Given the description of an element on the screen output the (x, y) to click on. 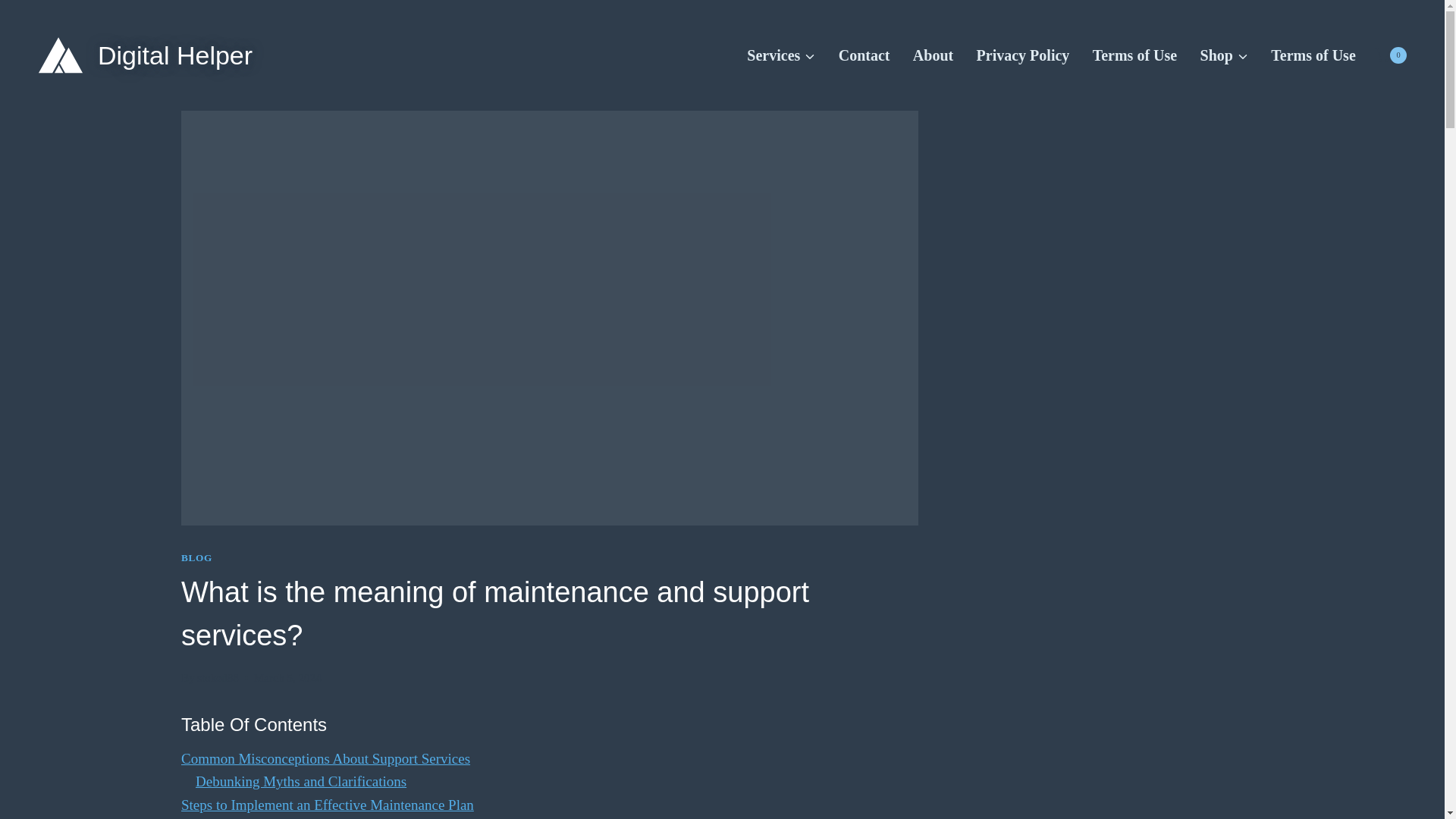
stoked88 (217, 676)
Steps to Implement an Effective Maintenance Plan (327, 804)
Debunking Myths and Clarifications (300, 781)
Common Misconceptions About Support Services (325, 758)
Services (781, 54)
Shop (1223, 54)
0 (1390, 54)
Contact (864, 54)
Terms of Use (1135, 54)
Terms of Use (1313, 54)
Privacy Policy (1021, 54)
Digital Helper (144, 54)
BLOG (196, 557)
